Given the description of an element on the screen output the (x, y) to click on. 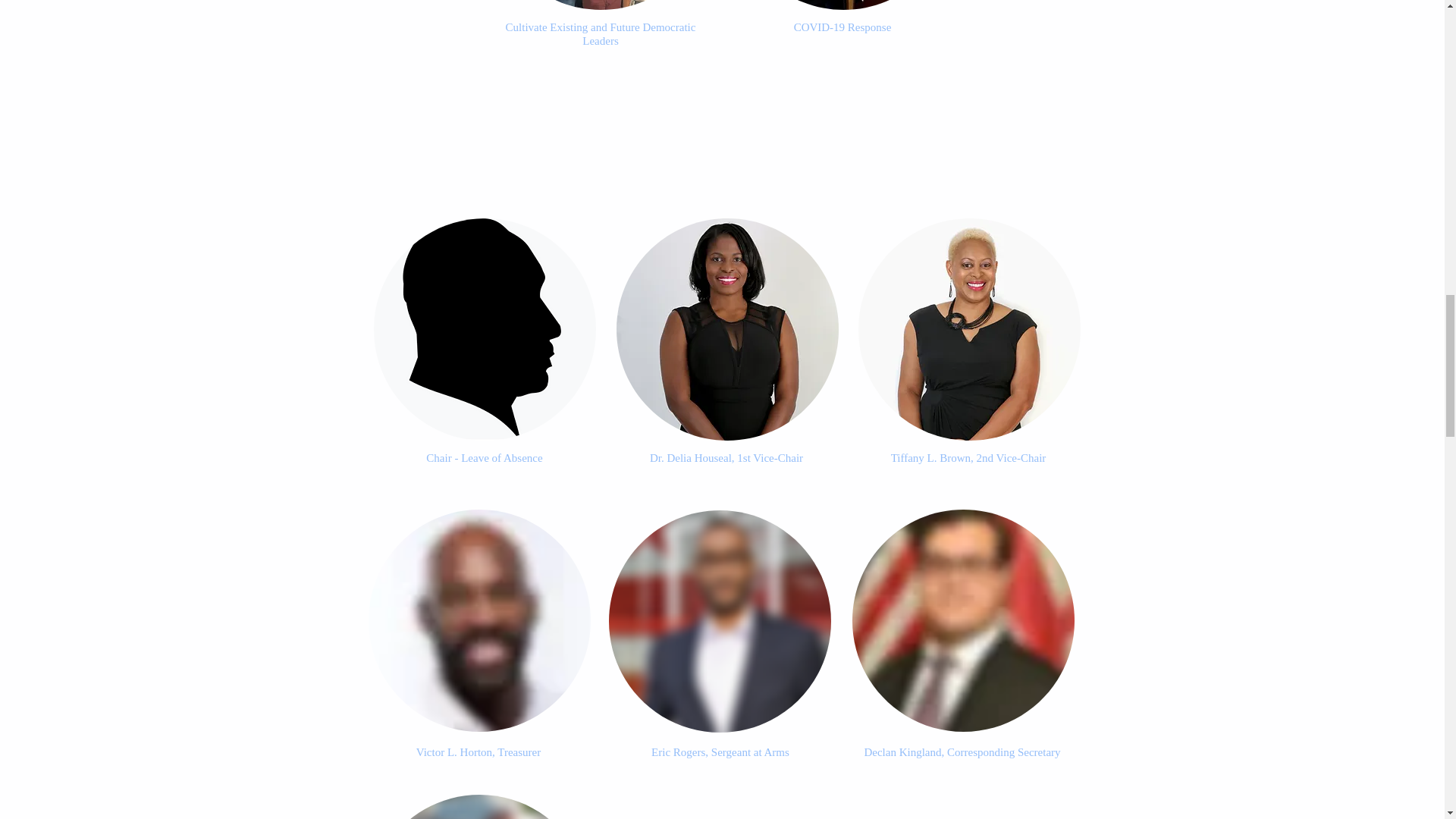
COVID-19 Response (842, 26)
Declan Kingland, Corresponding Secretary (961, 751)
Cultivate Existing and Future Democratic Leaders (600, 33)
Tiffany L. Brown, 2nd Vice-Chair (968, 457)
Eric Rogers, Sergeant at Arms (719, 751)
Dr. Delia Houseal, 1st Vice-Chair (726, 457)
Chair - Leave of Absence (483, 457)
Victor L. Horton, Treasurer (478, 751)
